Given the description of an element on the screen output the (x, y) to click on. 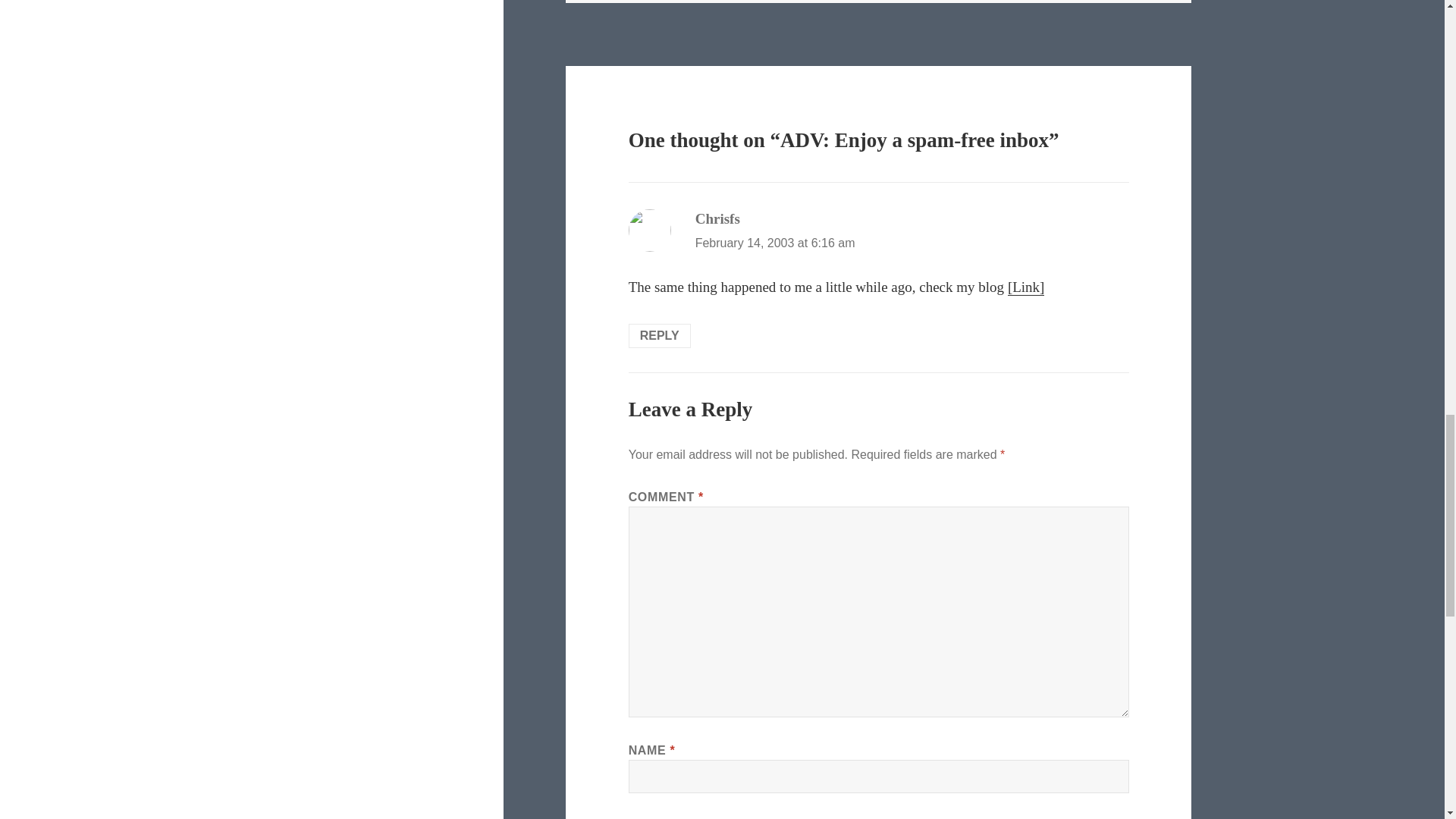
REPLY (659, 335)
February 14, 2003 at 6:16 am (775, 242)
